Given the description of an element on the screen output the (x, y) to click on. 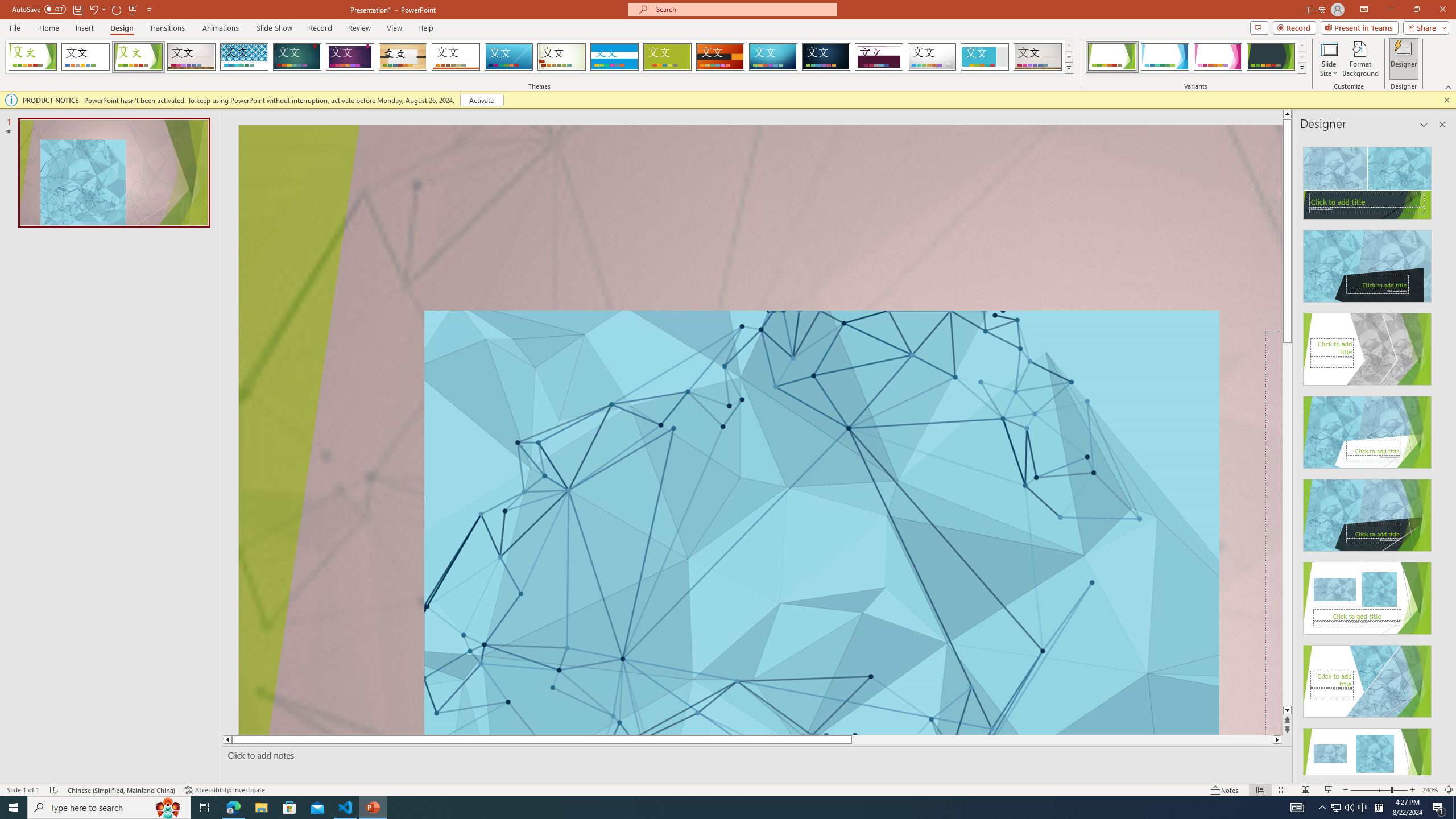
Facet Variant 3 (1217, 56)
